Given the description of an element on the screen output the (x, y) to click on. 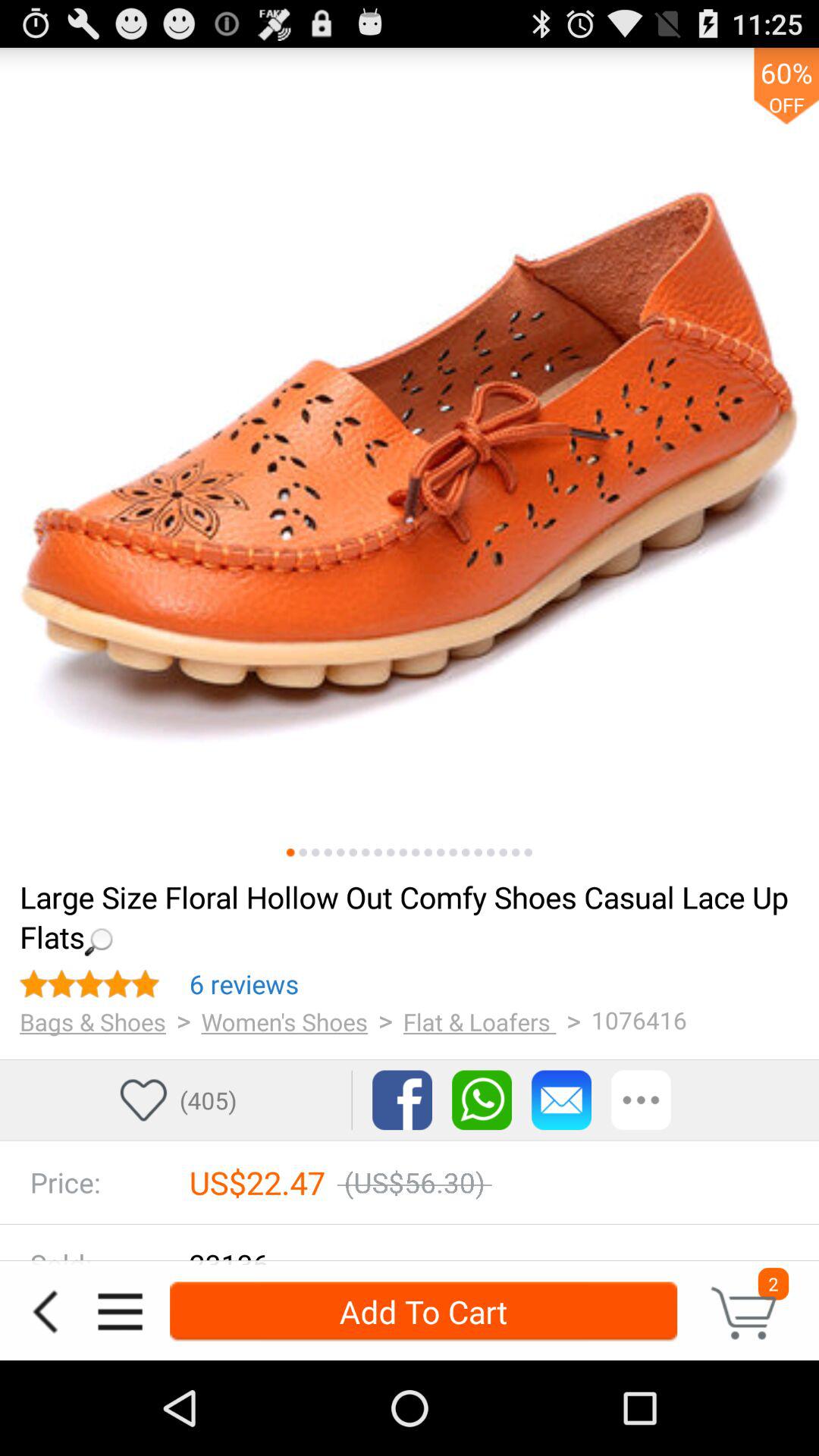
show more (641, 1100)
